Given the description of an element on the screen output the (x, y) to click on. 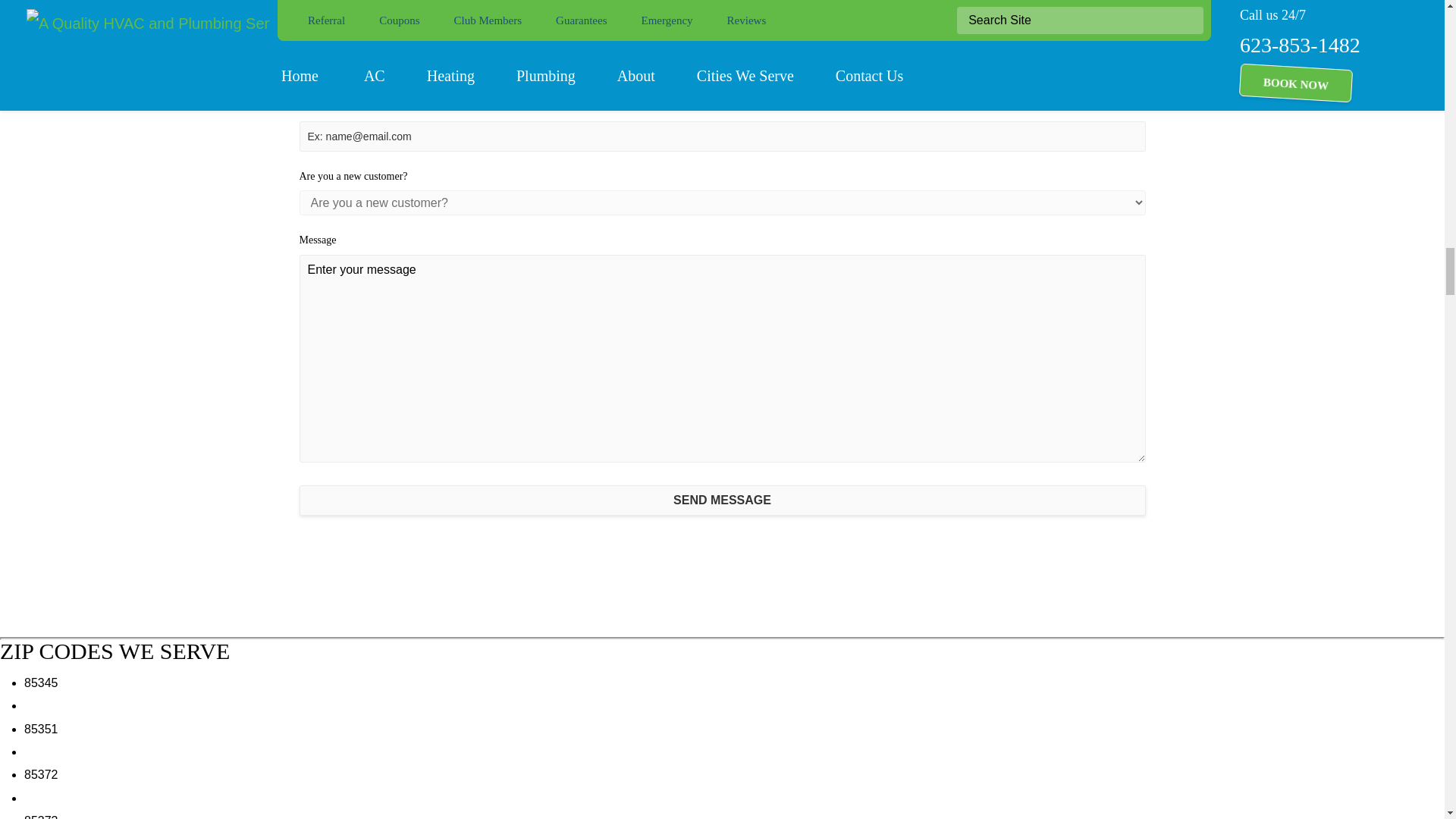
Send Message (721, 500)
